Given the description of an element on the screen output the (x, y) to click on. 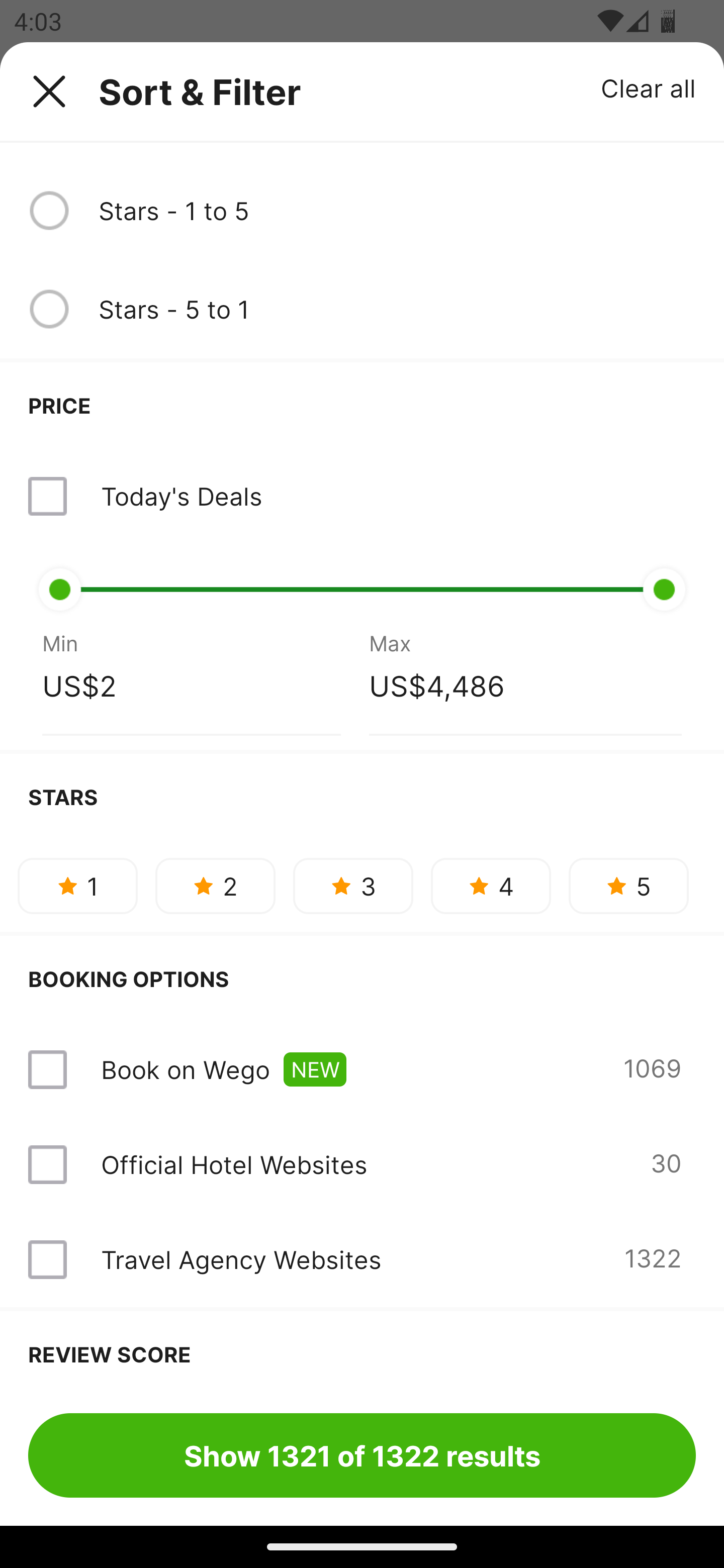
Clear all (648, 87)
Stars - 1 to 5 (396, 210)
Stars - 5 to 1 (396, 308)
Today's Deals (362, 496)
Today's Deals (181, 496)
1 (77, 885)
2 (214, 885)
3 (352, 885)
4 (491, 885)
5 (627, 885)
Book on Wego NEW 1069 (362, 1069)
Book on Wego (184, 1069)
Official Hotel Websites 30 (362, 1164)
Official Hotel Websites (233, 1164)
Travel Agency Websites 1322 (362, 1259)
Travel Agency Websites (240, 1258)
Show 1321 of 1322 results (361, 1454)
